Given the description of an element on the screen output the (x, y) to click on. 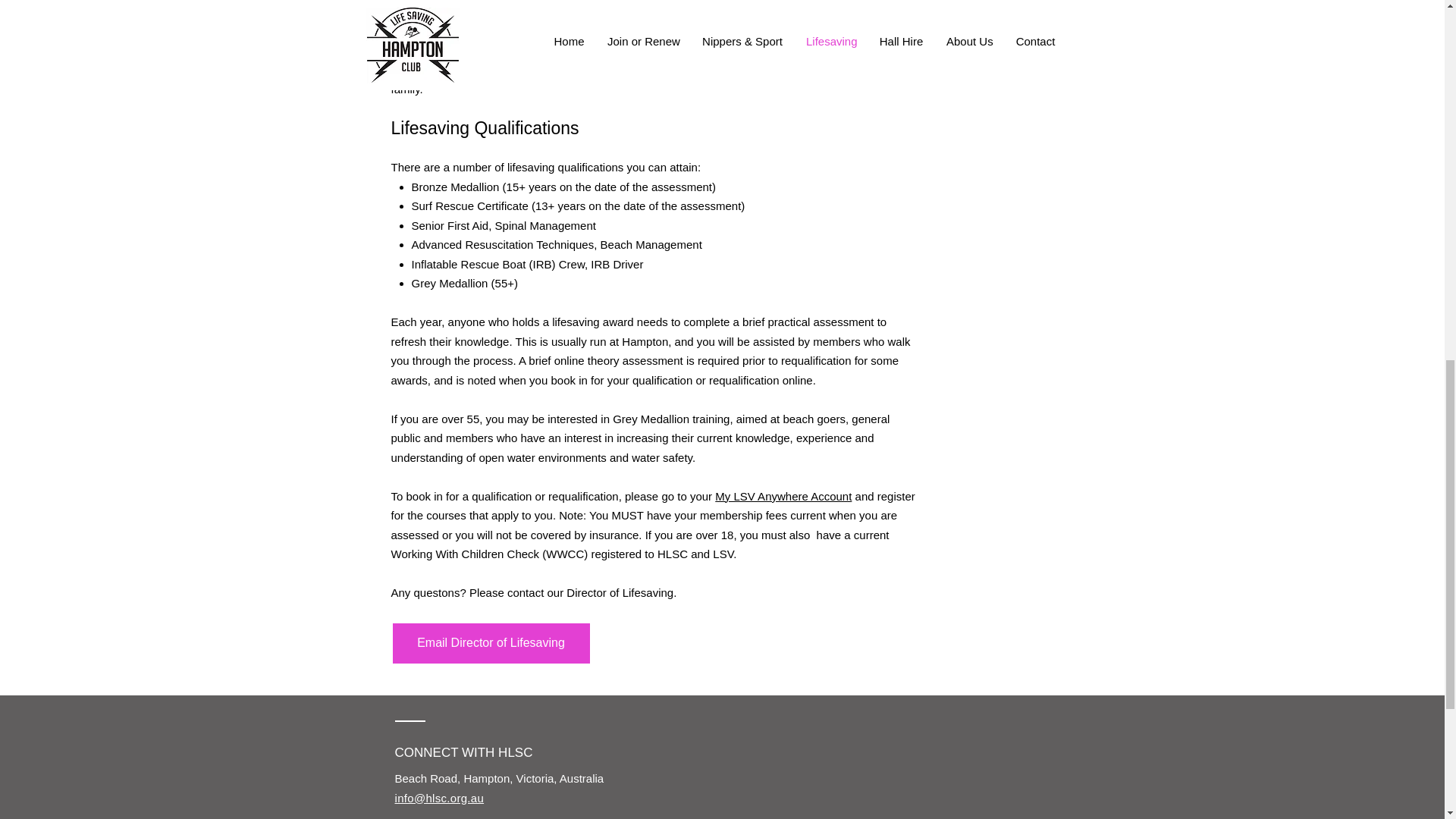
Email Director of Lifesaving (491, 643)
My LSV Anywhere Account (782, 495)
